Given the description of an element on the screen output the (x, y) to click on. 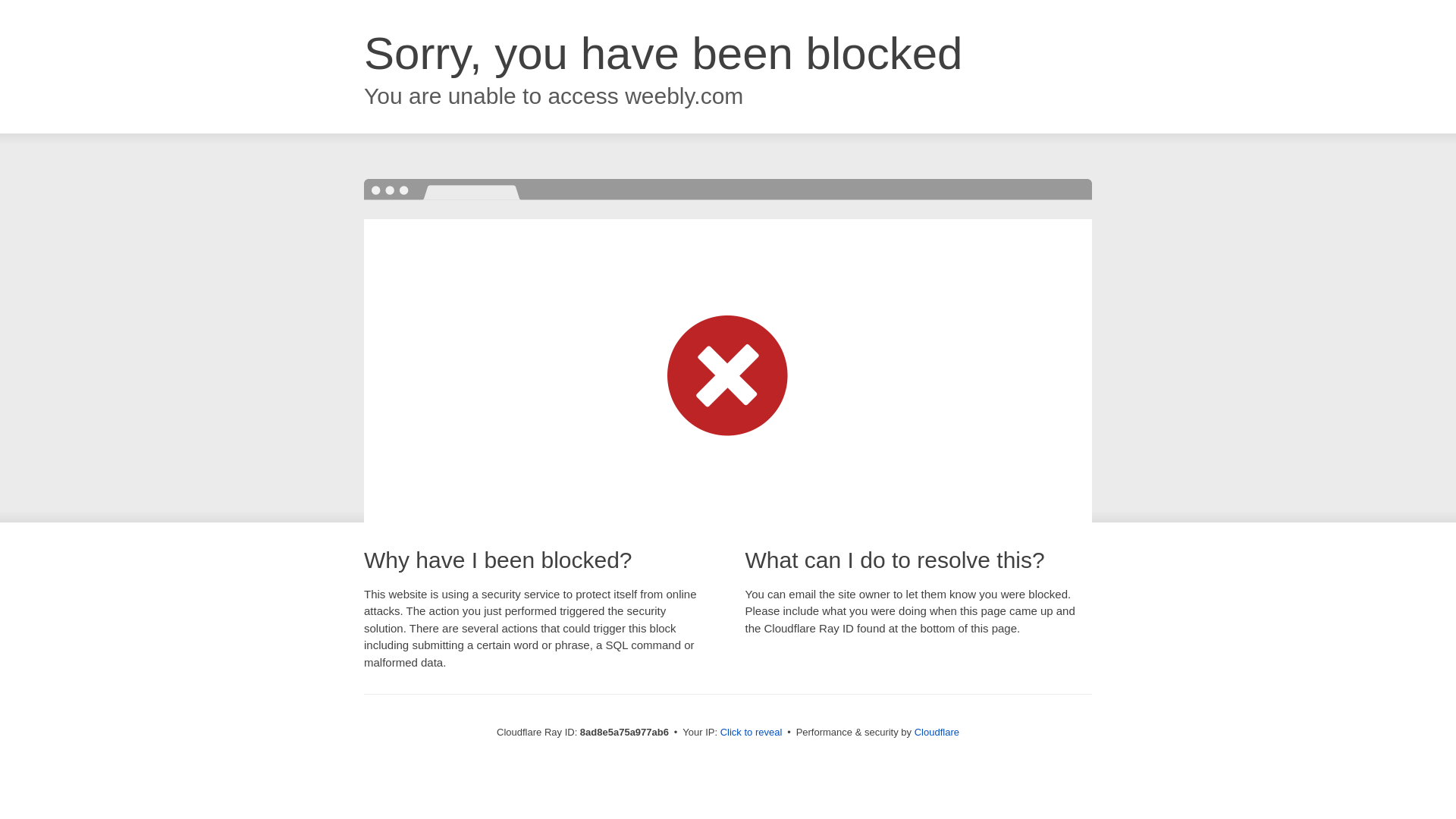
Click to reveal (751, 732)
Cloudflare (936, 731)
